Given the description of an element on the screen output the (x, y) to click on. 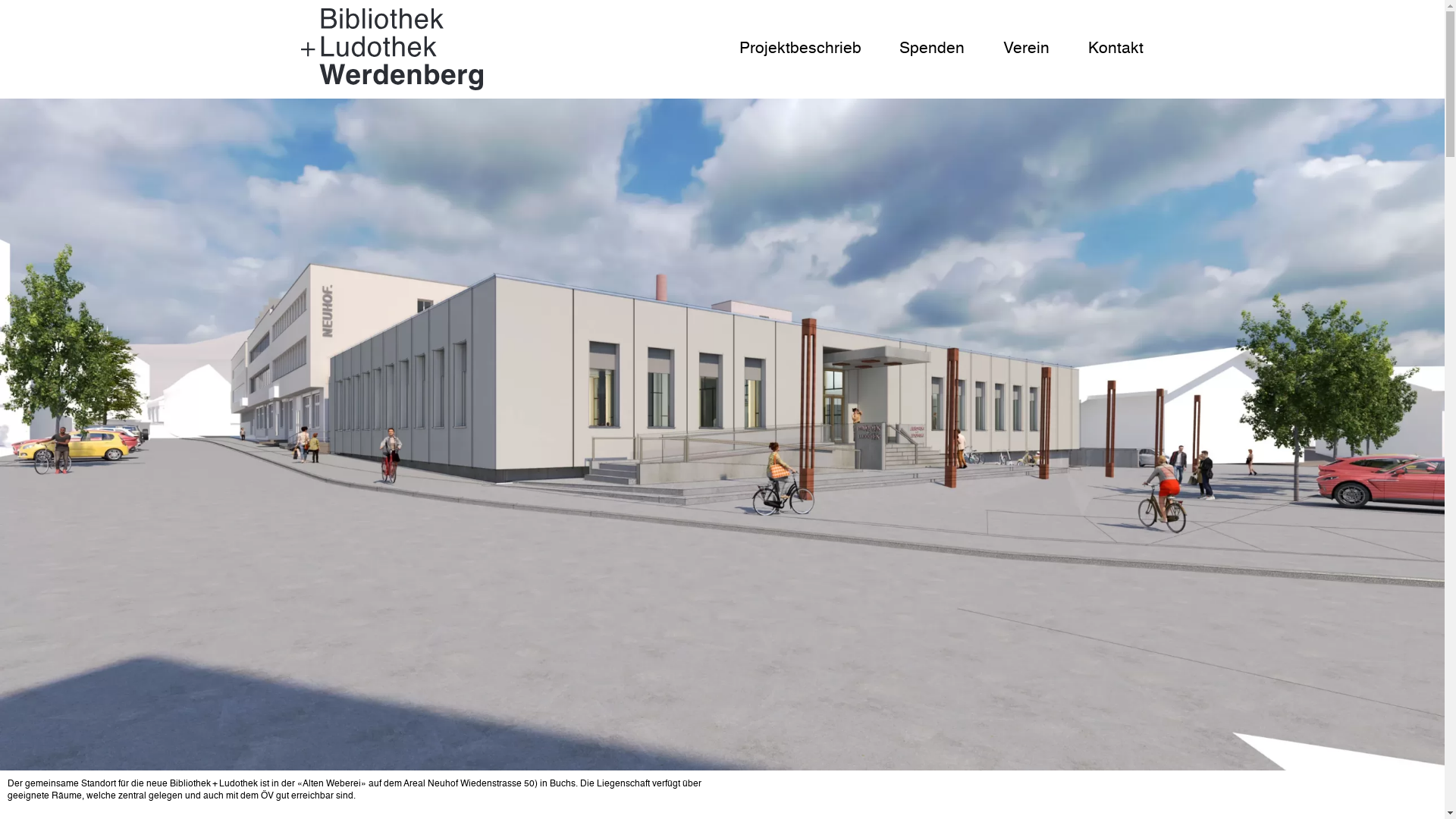
Kontakt Element type: text (1115, 49)
l1 Element type: hover (392, 49)
BiLuWe_Visualisierung_01 Element type: hover (722, 434)
Spenden Element type: text (931, 49)
Projektbeschrieb Element type: text (800, 49)
Verein Element type: text (1026, 49)
